Given the description of an element on the screen output the (x, y) to click on. 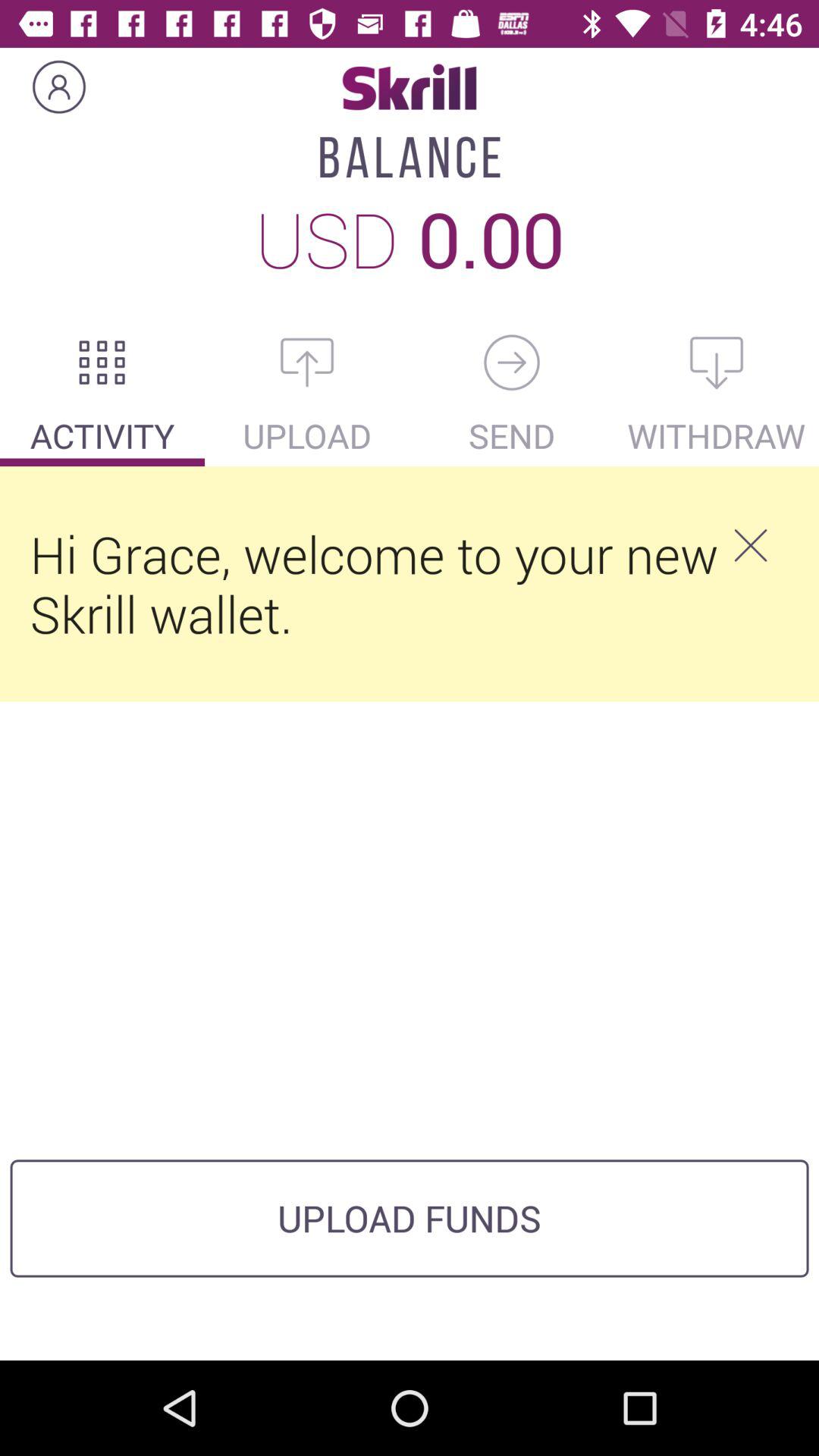
send funds (511, 362)
